Given the description of an element on the screen output the (x, y) to click on. 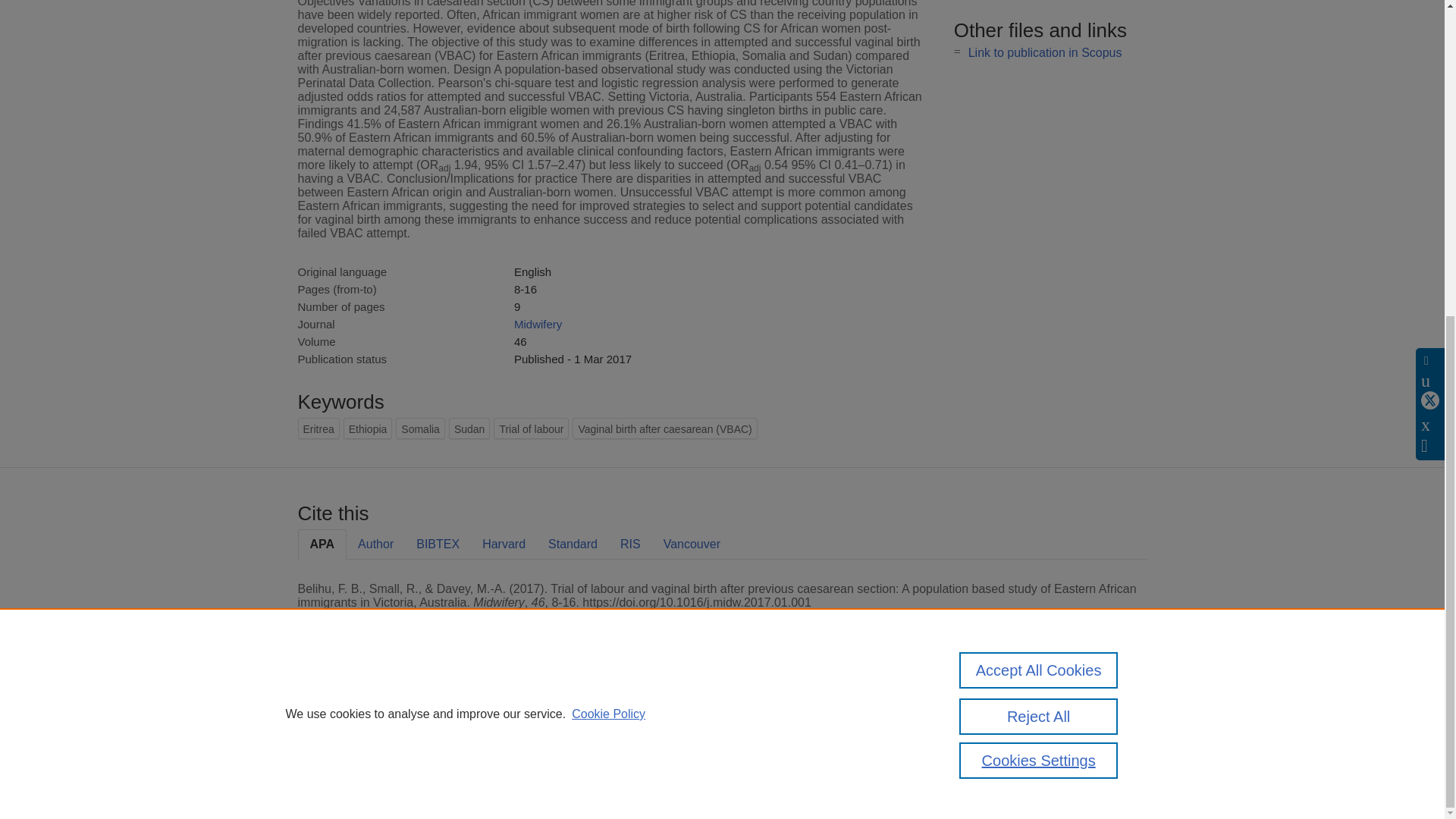
About web accessibility (1008, 740)
Pure (362, 708)
Midwifery (537, 323)
Link to publication in Scopus (1045, 51)
Scopus (394, 708)
Elsevier B.V. (506, 728)
Cookies Settings (334, 781)
Report vulnerability (1000, 760)
Monash University data protection policy (1009, 713)
use of cookies (796, 760)
Contact us (1123, 713)
Cookie Policy (608, 205)
